Given the description of an element on the screen output the (x, y) to click on. 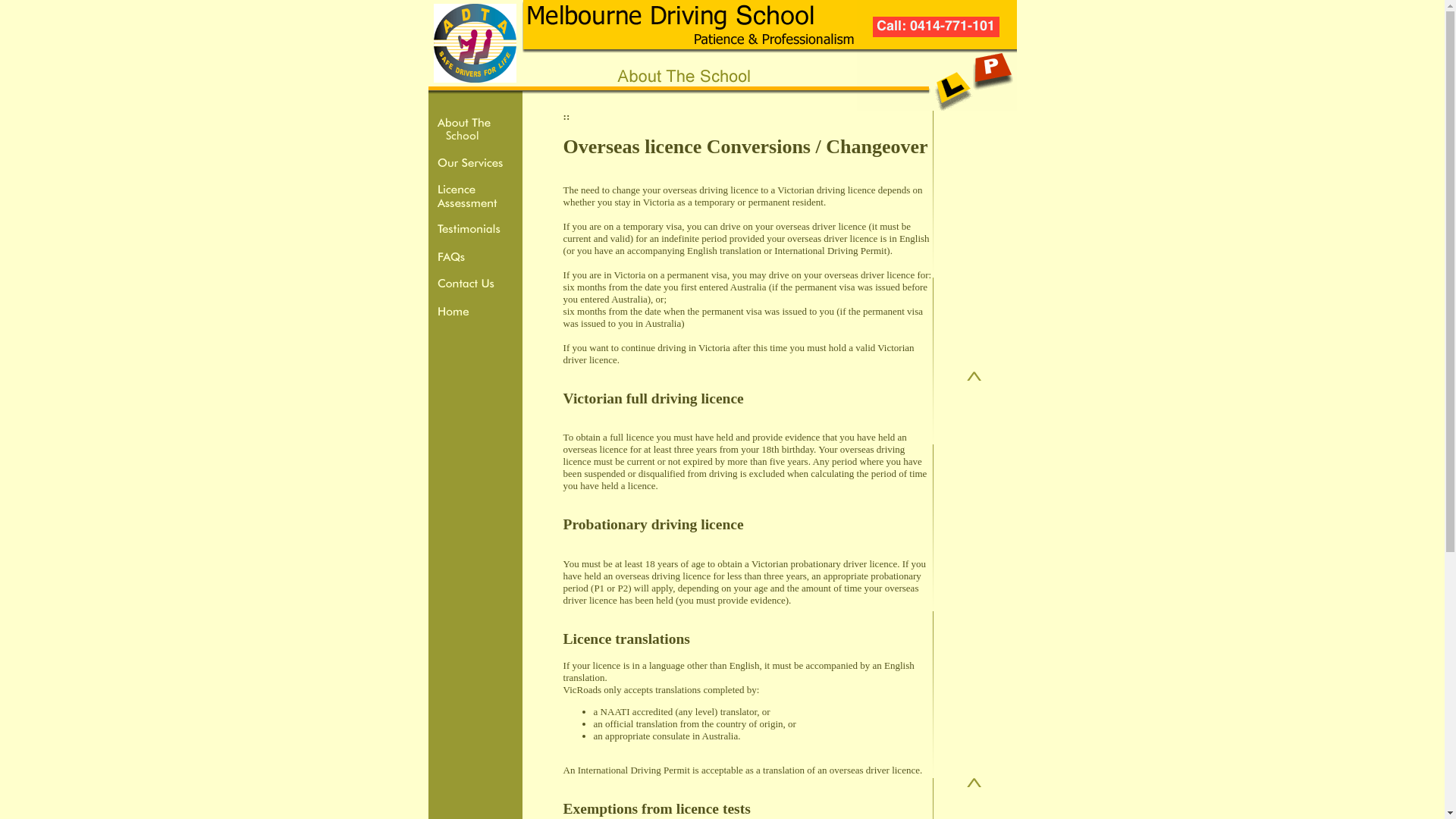
:: Element type: text (566, 116)
   Element type: text (571, 116)
